Given the description of an element on the screen output the (x, y) to click on. 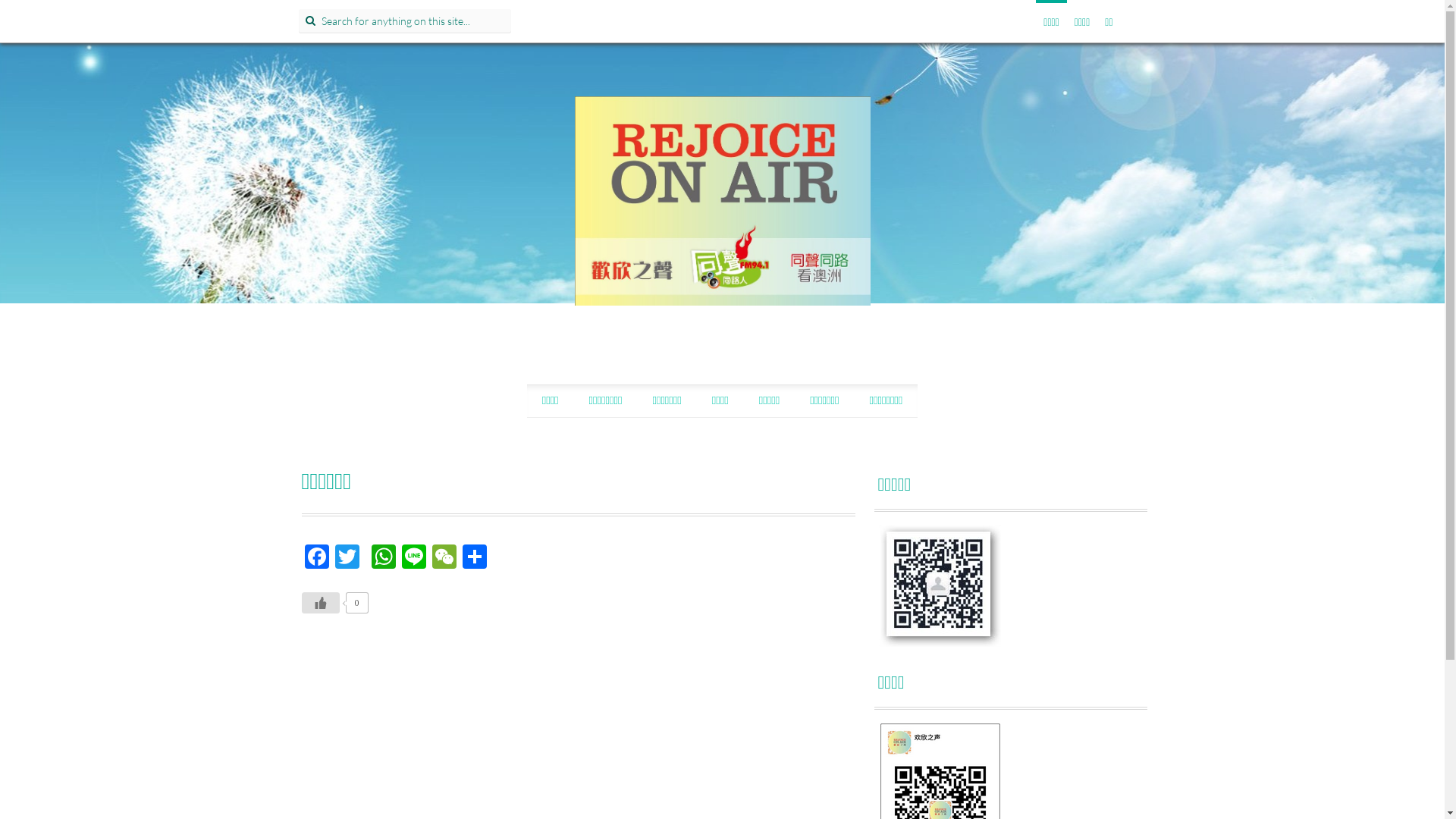
Line Element type: text (413, 558)
Twitter Element type: text (347, 558)
Facebook Element type: text (316, 558)
WhatsApp Element type: text (383, 558)
Rejoice on Air Element type: hover (722, 200)
WeChat Element type: text (444, 558)
Share Element type: text (474, 558)
SKIP TO CONTENT Element type: text (591, 400)
Rejoice on Air Element type: hover (722, 194)
